Given the description of an element on the screen output the (x, y) to click on. 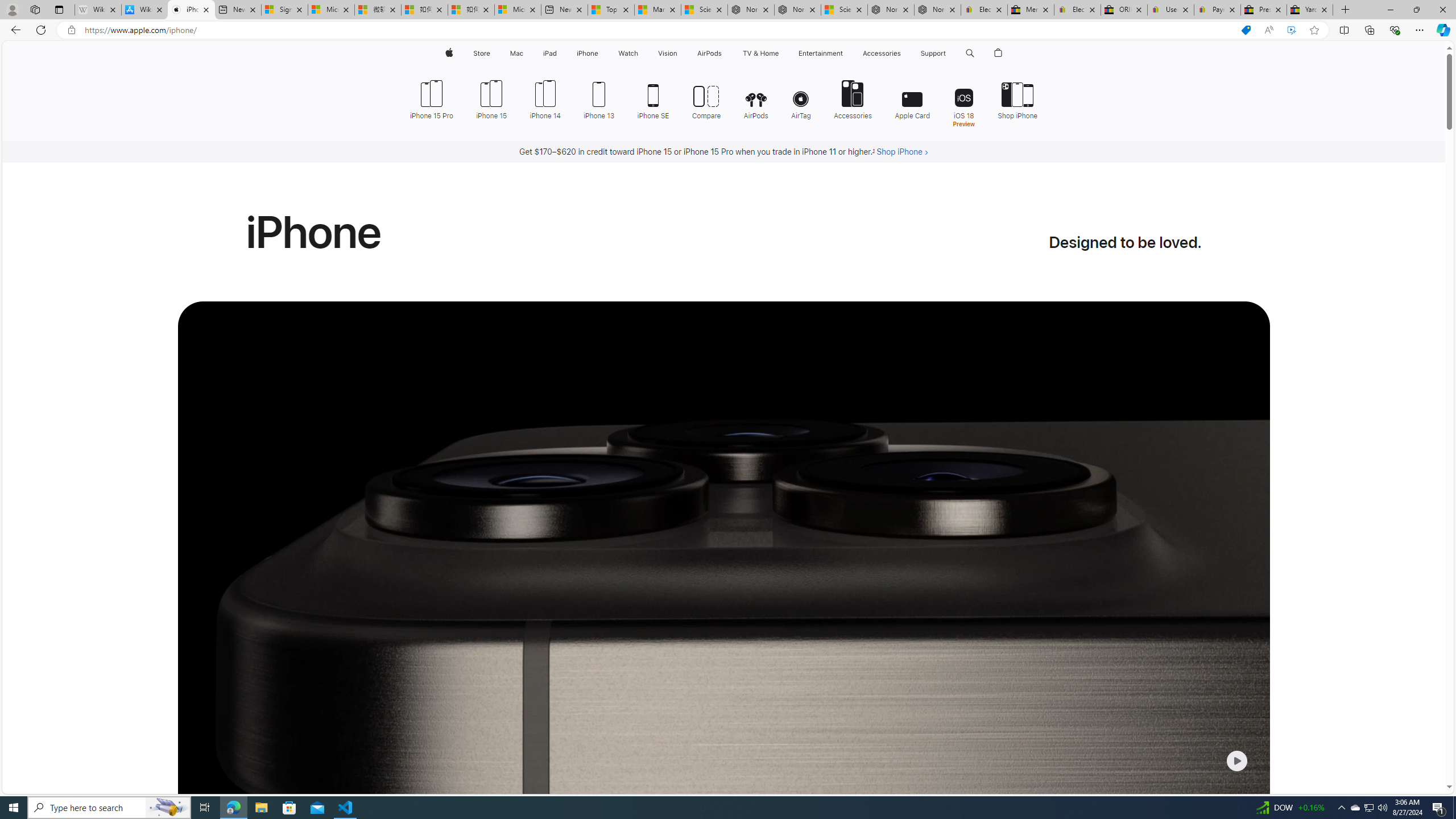
TV & Home (759, 53)
User Privacy Notice | eBay (1170, 9)
This site has coupons! Shopping in Microsoft Edge (1245, 29)
iPhone (587, 53)
AirPods menu (723, 53)
AirTag (801, 98)
Yard, Garden & Outdoor Living (1309, 9)
Store (481, 53)
Accessories (853, 98)
iPhone 13 (598, 98)
